Given the description of an element on the screen output the (x, y) to click on. 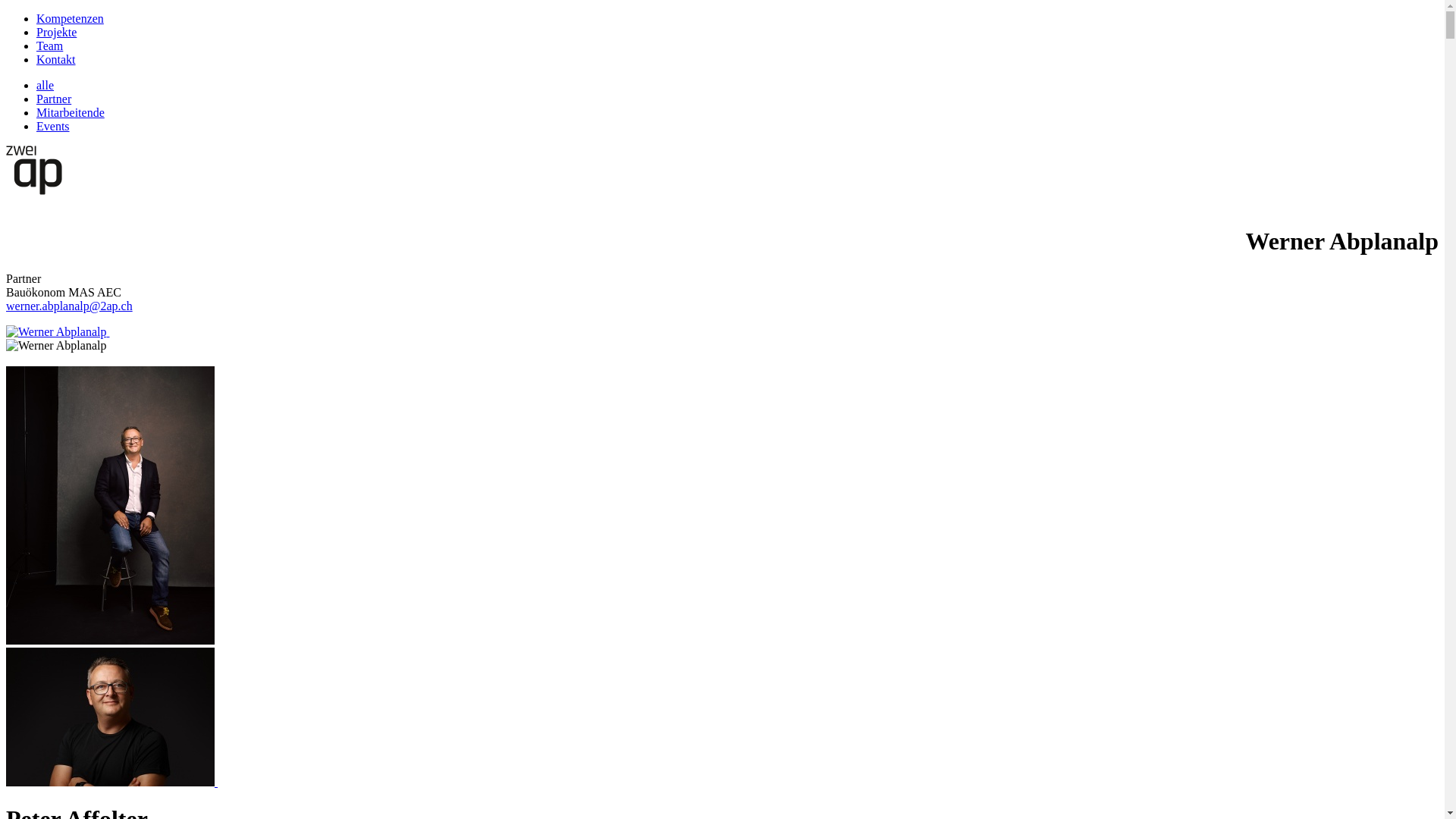
Partner Element type: text (53, 98)
Mitarbeitende Element type: text (70, 112)
Kompetenzen Element type: text (69, 18)
Kontakt Element type: text (55, 59)
werner.abplanalp@2ap.ch Element type: text (69, 305)
Events Element type: text (52, 125)
  Element type: text (57, 331)
Projekte Element type: text (56, 31)
Werner Abplanalp Element type: hover (57, 331)
Werner Abplanalp Element type: hover (56, 331)
  Element type: text (111, 781)
alle Element type: text (44, 84)
Werner Abplanalp Element type: hover (56, 345)
Peter Affolter Element type: hover (111, 781)
Peter Affolter Element type: hover (110, 716)
Zur Startseite Element type: hover (34, 190)
Team Element type: text (49, 45)
Peter Affolter Element type: hover (110, 505)
